Given the description of an element on the screen output the (x, y) to click on. 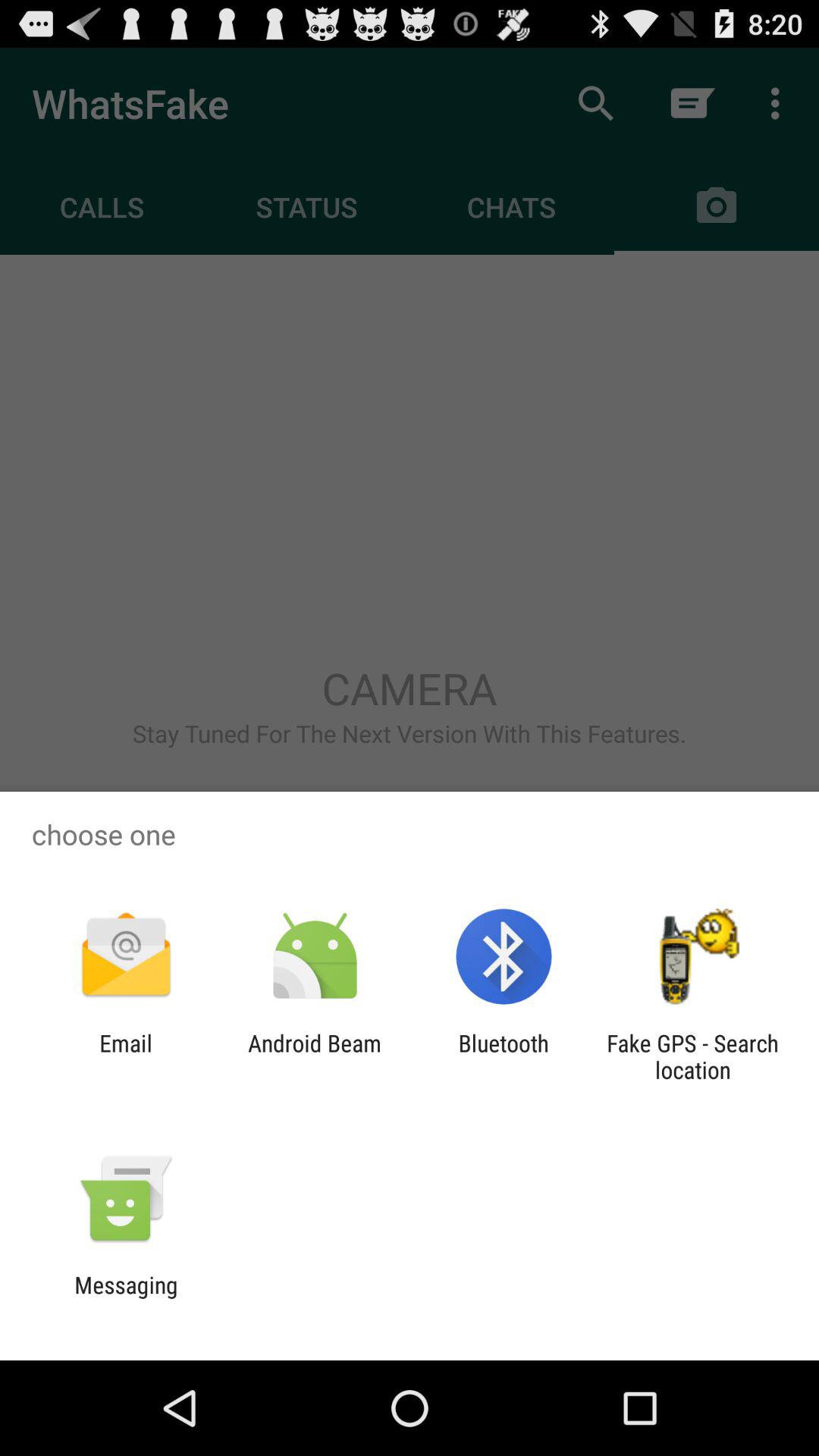
launch app next to the fake gps search (503, 1056)
